Given the description of an element on the screen output the (x, y) to click on. 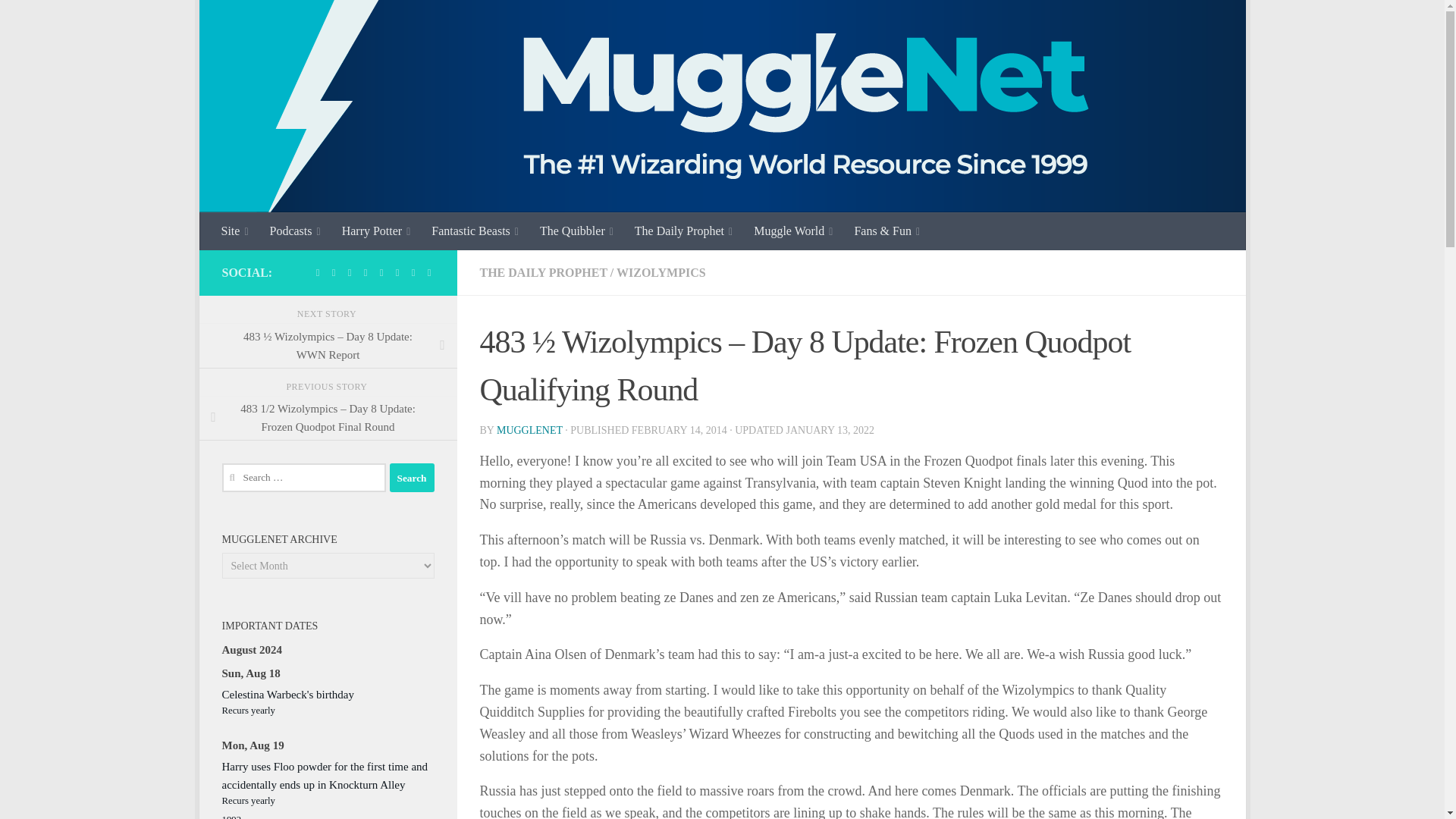
Search (411, 477)
Posts by MuggleNet (529, 430)
Search (411, 477)
Skip to content (258, 20)
